Given the description of an element on the screen output the (x, y) to click on. 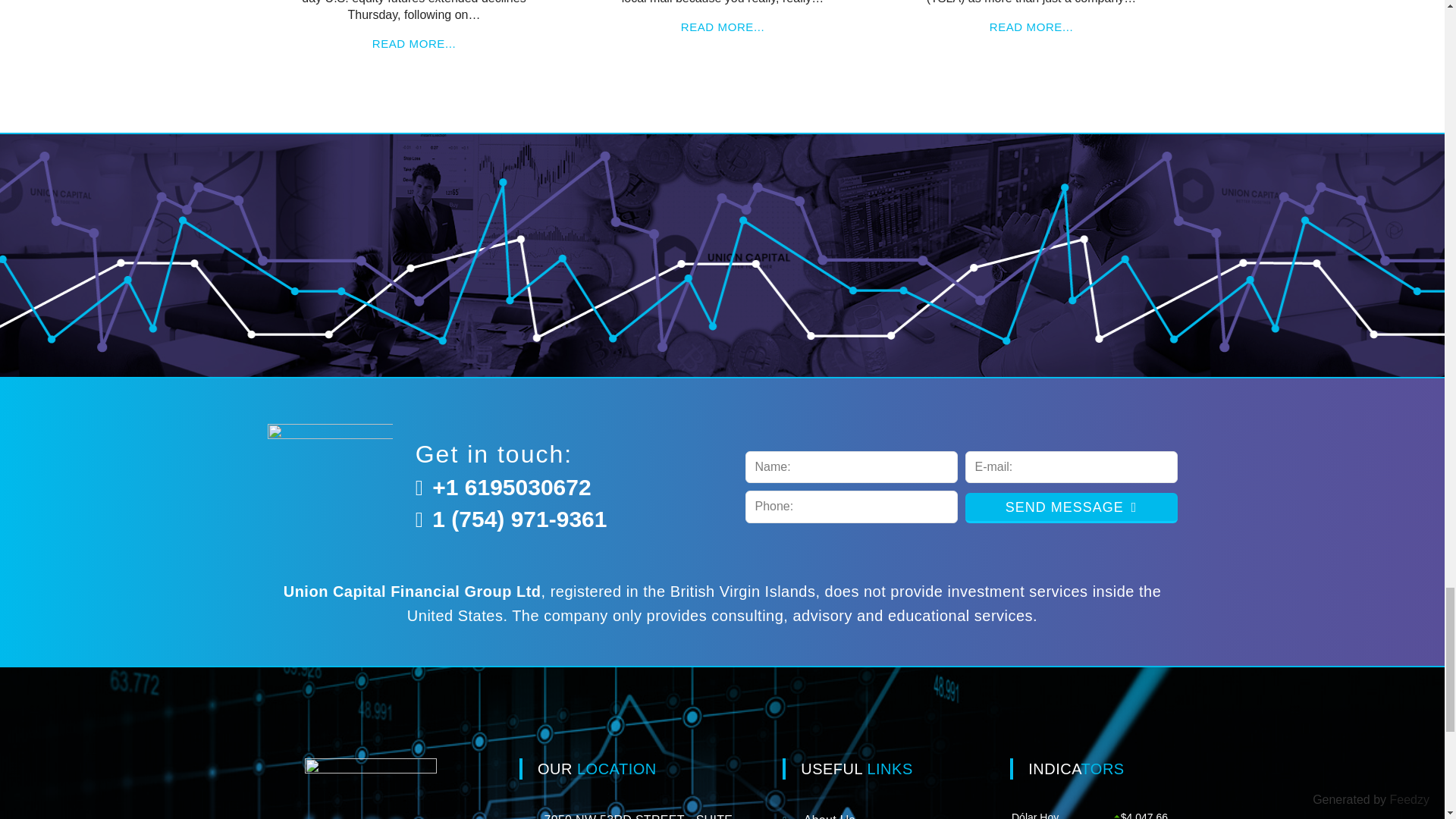
Dolar (1089, 814)
